Given the description of an element on the screen output the (x, y) to click on. 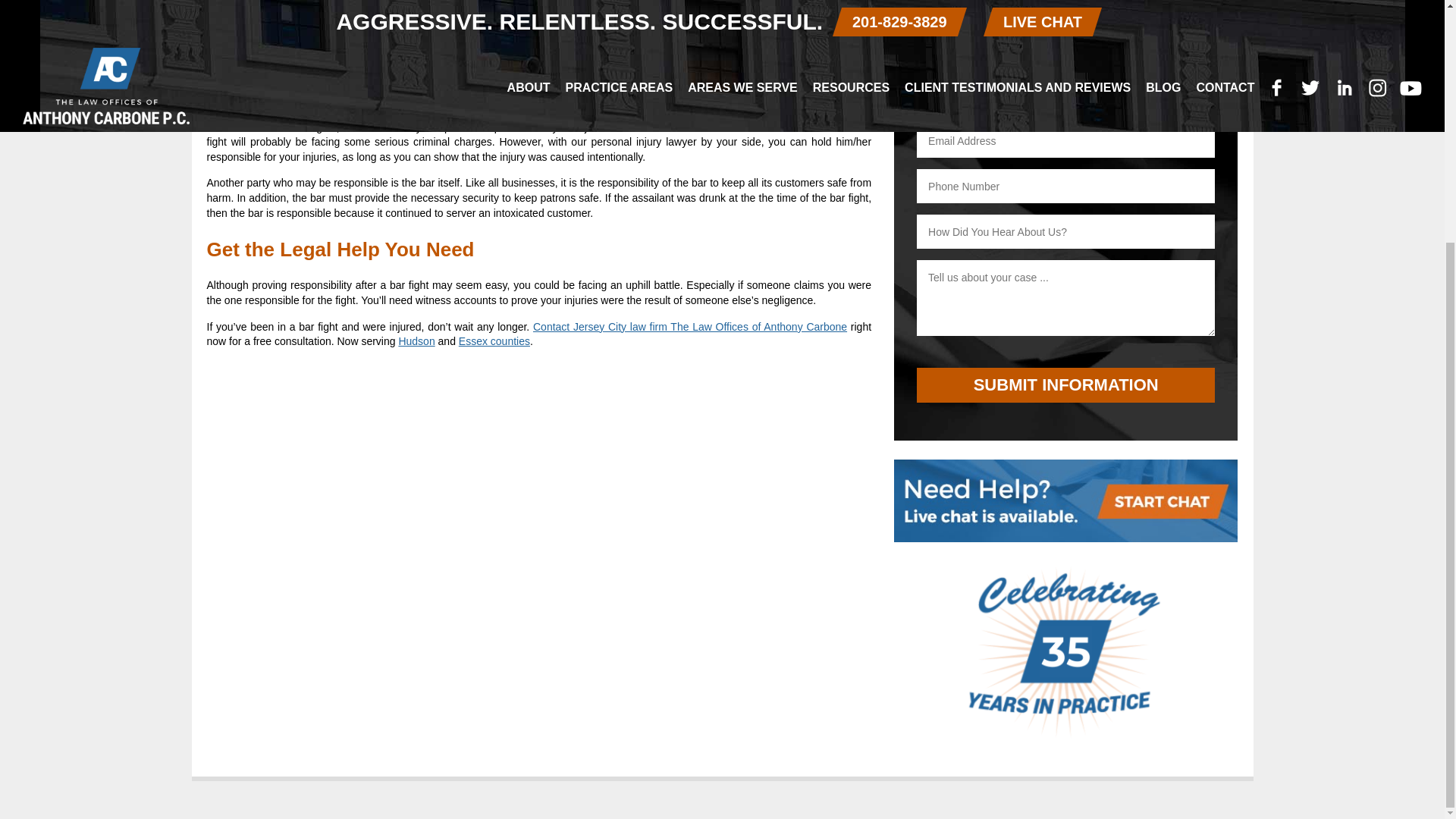
Submit Information (1065, 384)
